Given the description of an element on the screen output the (x, y) to click on. 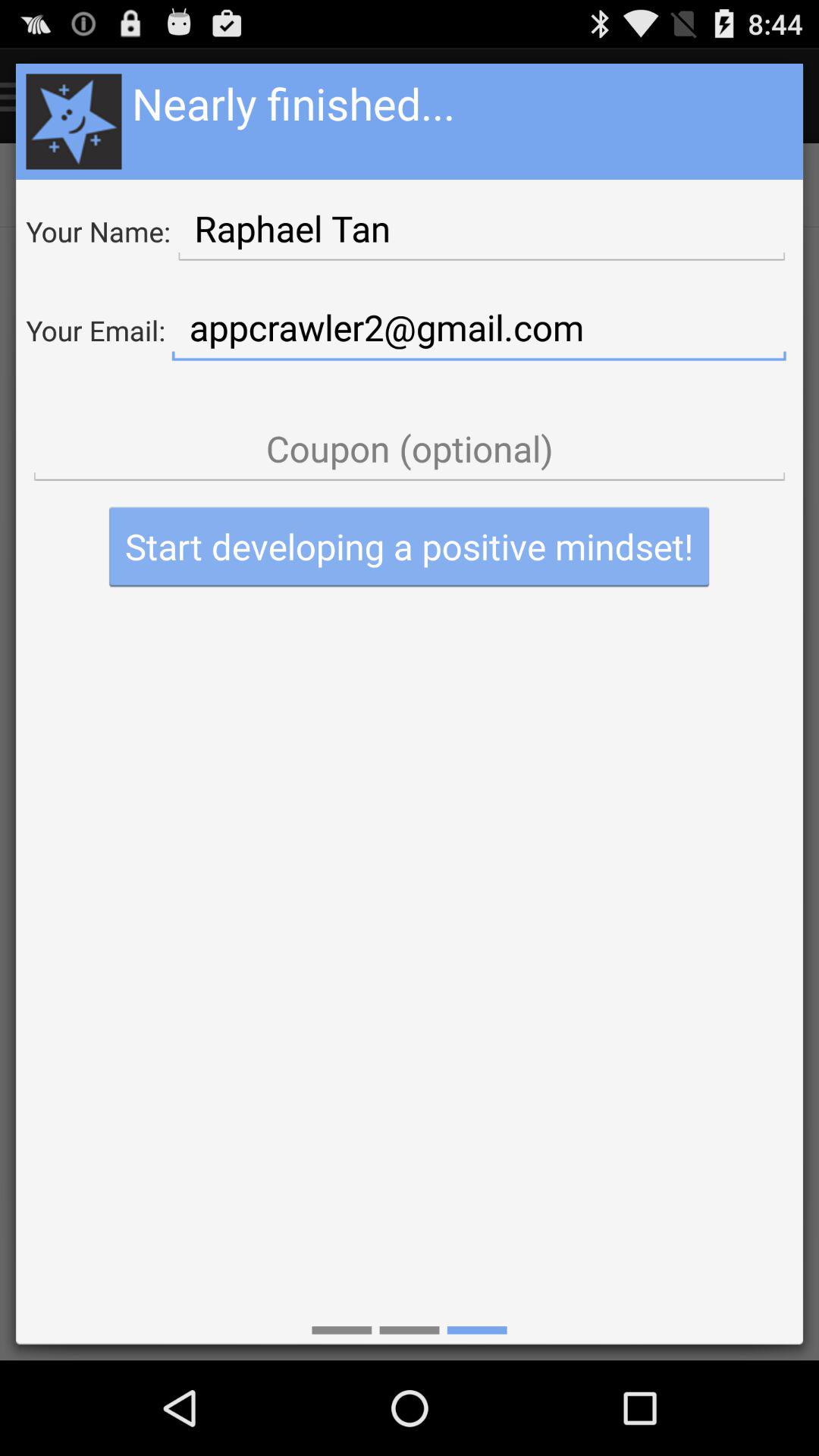
enter coupon (409, 449)
